Given the description of an element on the screen output the (x, y) to click on. 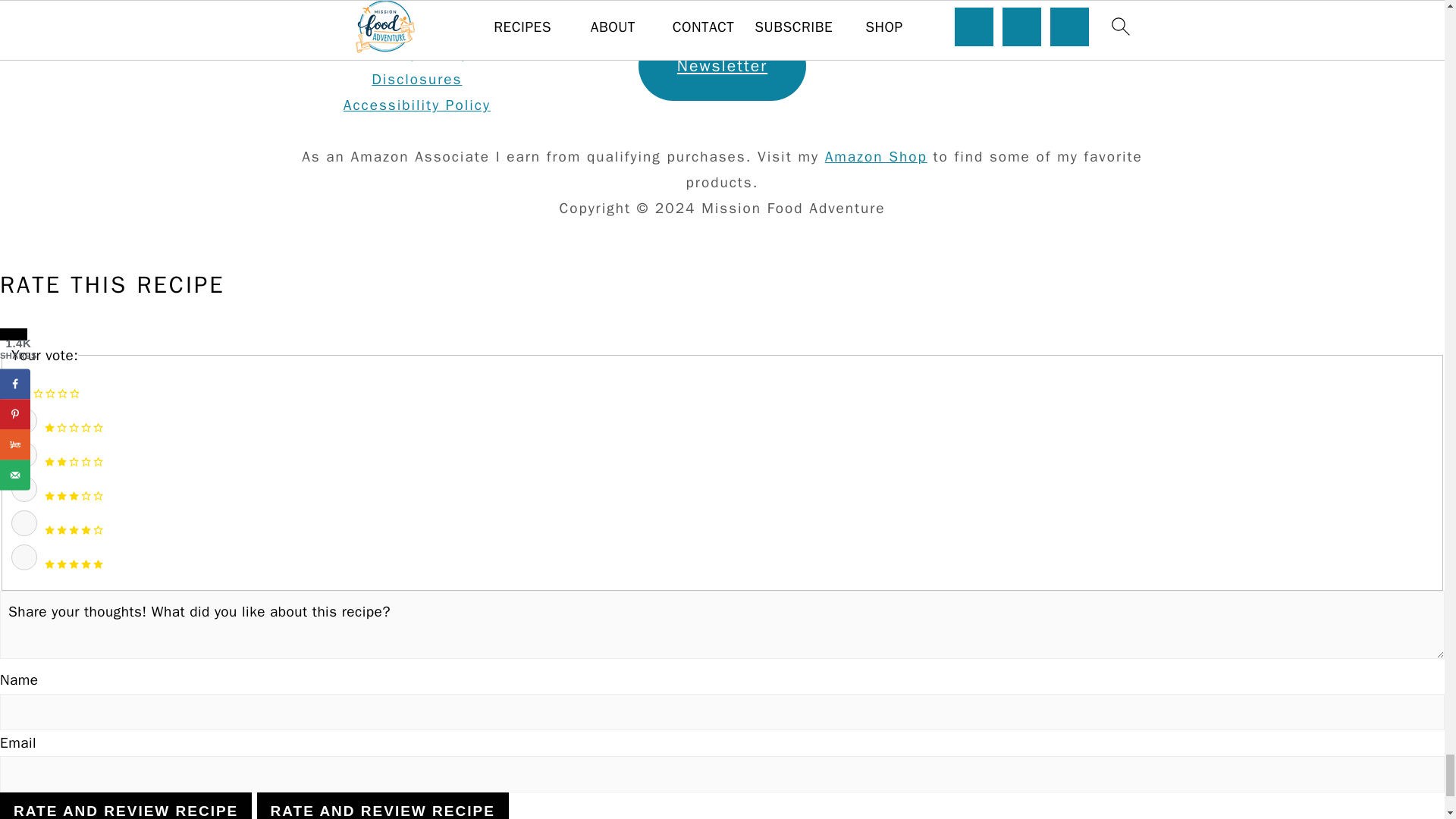
5 (24, 557)
4 (24, 523)
2 (24, 454)
3 (24, 488)
1 (24, 420)
